Given the description of an element on the screen output the (x, y) to click on. 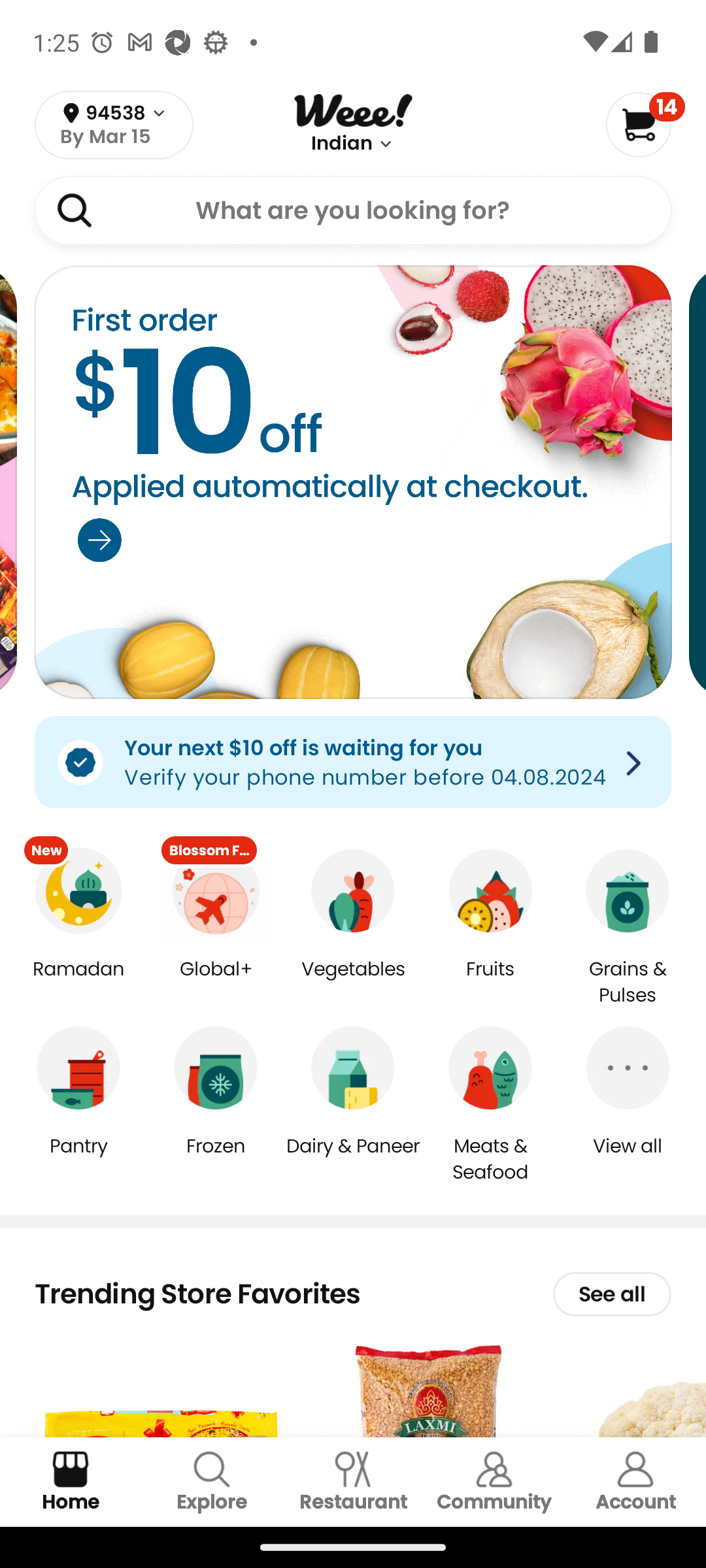
94538 By Mar 15 (113, 124)
14 (644, 124)
Indian (341, 143)
What are you looking for? (352, 209)
Ramadan (77, 982)
Global+ (215, 982)
Vegetables (352, 982)
Fruits (490, 982)
Grains & Pulses (627, 982)
Pantry (77, 1159)
Frozen (215, 1159)
Dairy & Paneer (352, 1159)
Meats & Seafood (490, 1158)
View all (627, 1159)
Home (70, 1482)
Explore (211, 1482)
Restaurant (352, 1482)
Community (493, 1482)
Account (635, 1482)
